Given the description of an element on the screen output the (x, y) to click on. 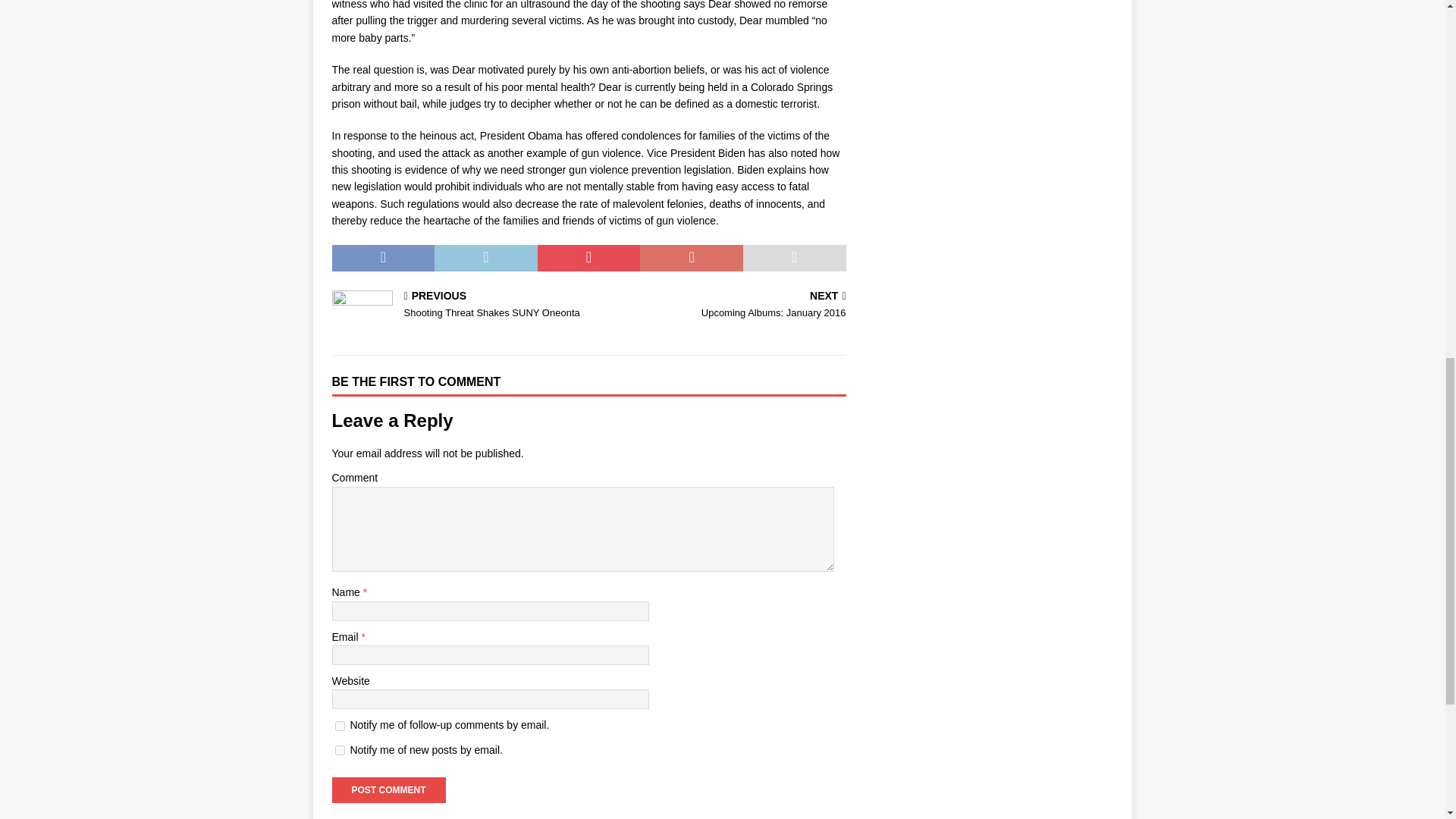
subscribe (339, 750)
Post Comment (388, 790)
subscribe (339, 726)
